Given the description of an element on the screen output the (x, y) to click on. 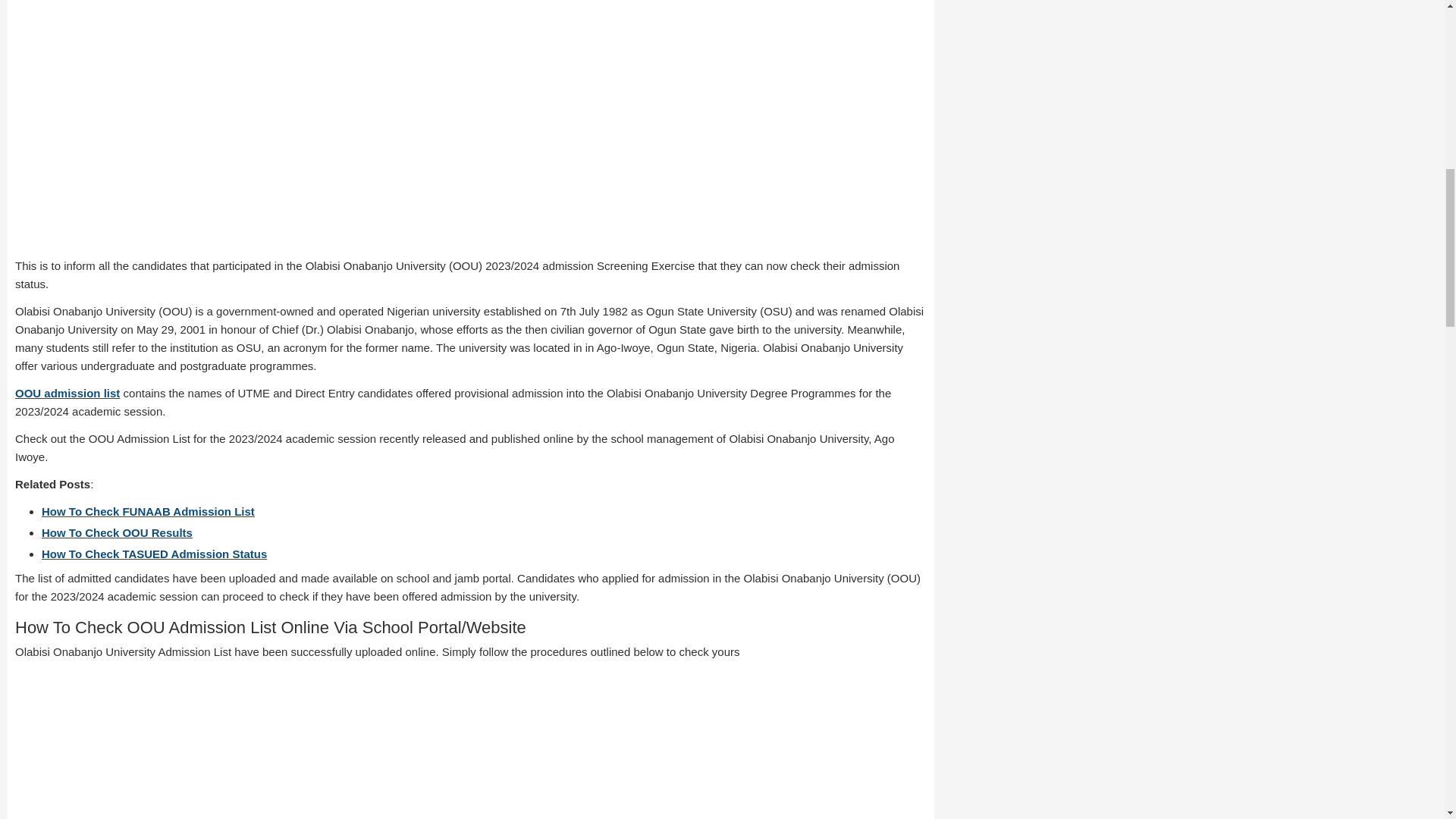
OOU admission list (66, 392)
How To Check TASUED Admission Status (154, 553)
How To Check FUNAAB Admission List (148, 511)
How To Check OOU Results (117, 532)
